Given the description of an element on the screen output the (x, y) to click on. 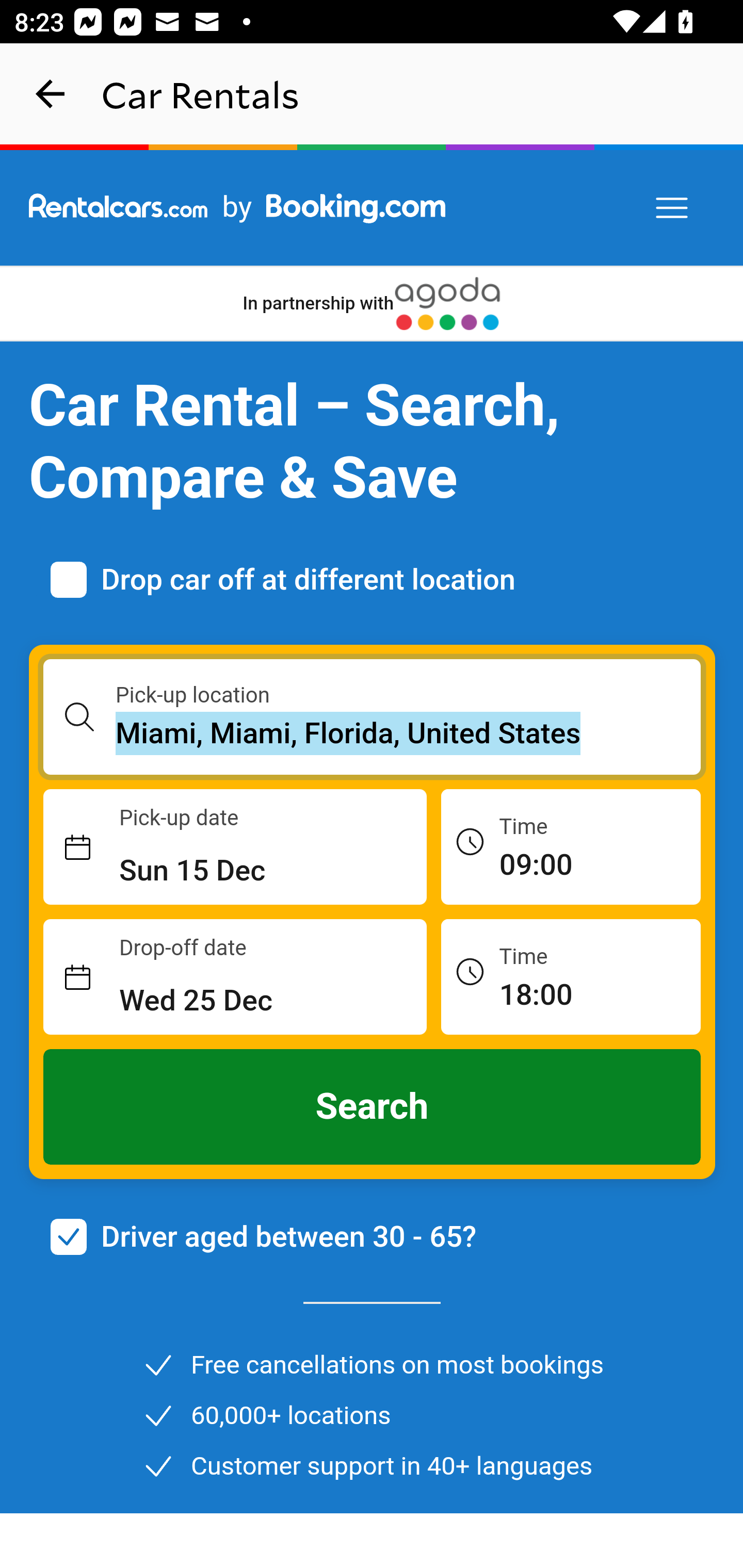
navigation_button (50, 93)
Menu (672, 208)
Miami, Miami, Florida, United States (408, 733)
Pick-up date Sun 15 Dec (235, 847)
09:00 (571, 845)
Drop-off date Wed 25 Dec (235, 977)
18:00 (571, 975)
Search (372, 1106)
